Given the description of an element on the screen output the (x, y) to click on. 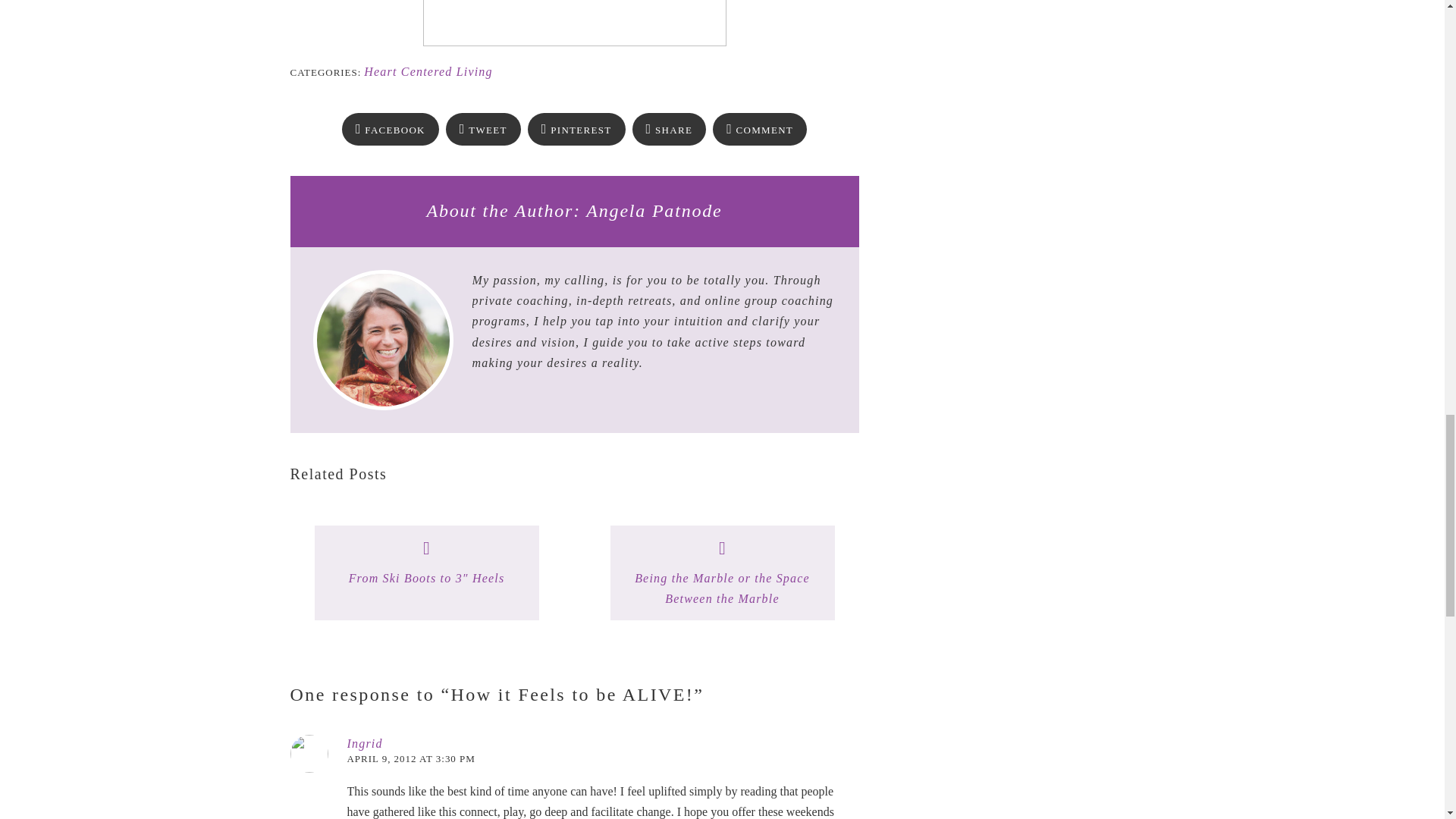
FACEBOOK (390, 129)
COMMENT (759, 129)
Heart Centered Living (428, 71)
Ingrid (364, 743)
Being the Marble or the Space Between the Marble (721, 588)
Pin It (576, 129)
TWEET (483, 129)
SHARE (668, 129)
PINTEREST (576, 129)
How it Feels to be ALIVE! (390, 129)
